Given the description of an element on the screen output the (x, y) to click on. 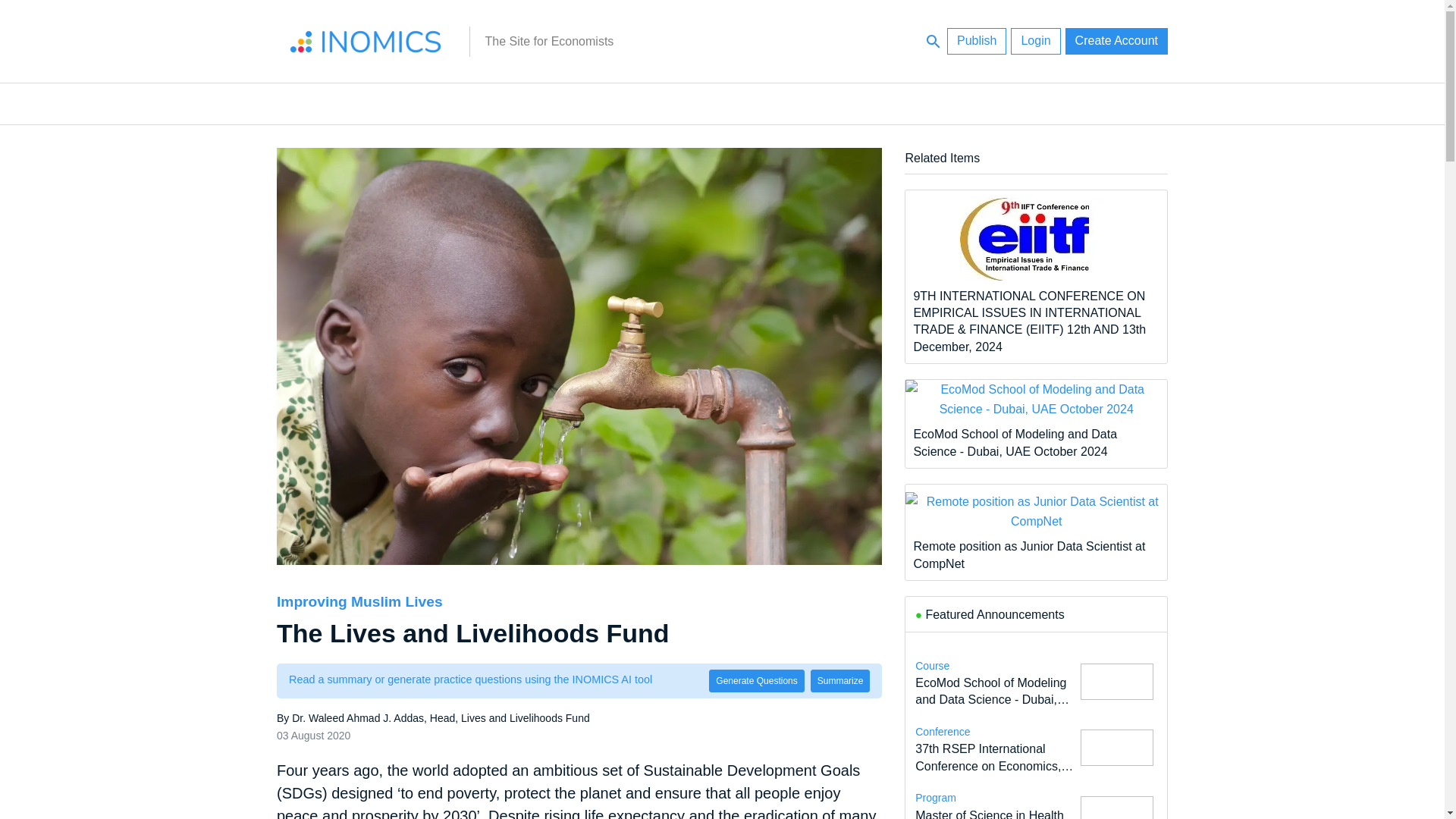
Share on LinkedIn (224, 644)
Email (224, 707)
Home (365, 40)
Tweet (224, 676)
Share on Facebook (224, 739)
